Given the description of an element on the screen output the (x, y) to click on. 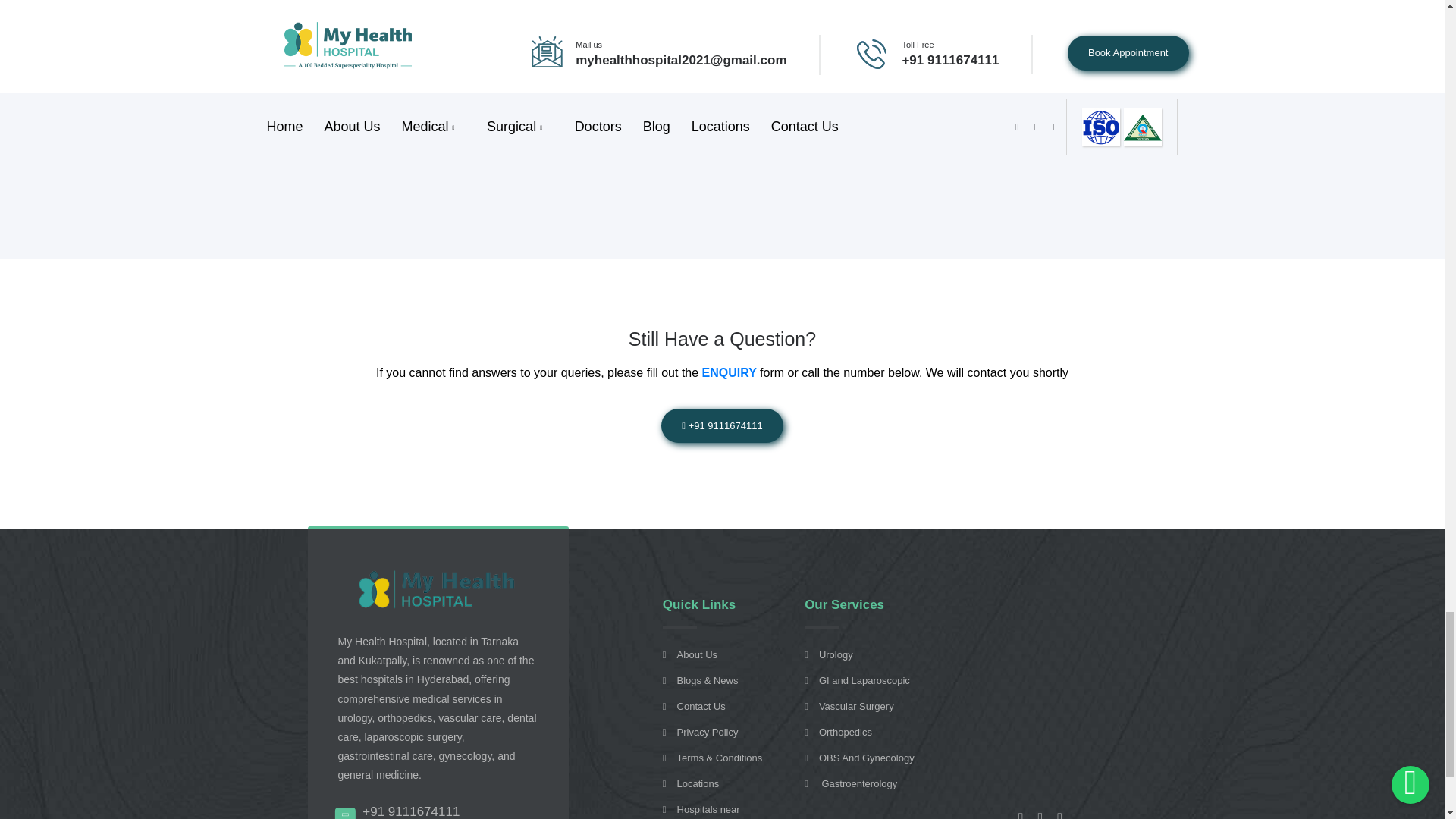
Can I get a Pap smear test if I am on my period? (721, 33)
Do you need a Pap smear if you're not sexually active? (721, 129)
ENQUIRY (730, 372)
